Given the description of an element on the screen output the (x, y) to click on. 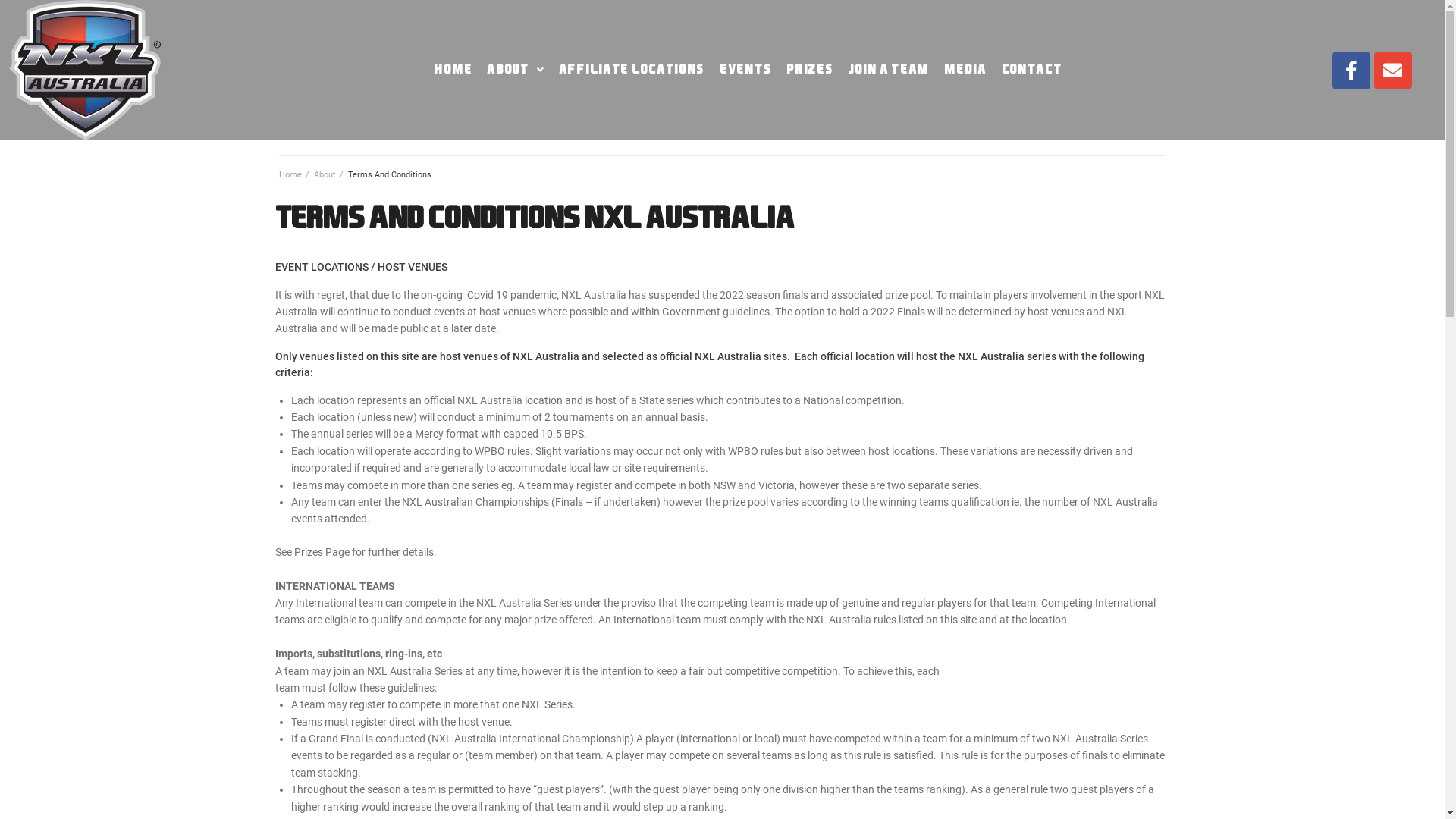
Contact Element type: text (1031, 69)
Events Element type: text (745, 69)
Affiliate Locations Element type: text (631, 69)
Prizes Element type: text (809, 69)
Media Element type: text (965, 69)
About Element type: text (324, 174)
About Element type: text (514, 69)
Home Element type: text (290, 174)
Join A Team Element type: text (887, 69)
Home Element type: text (452, 69)
